Given the description of an element on the screen output the (x, y) to click on. 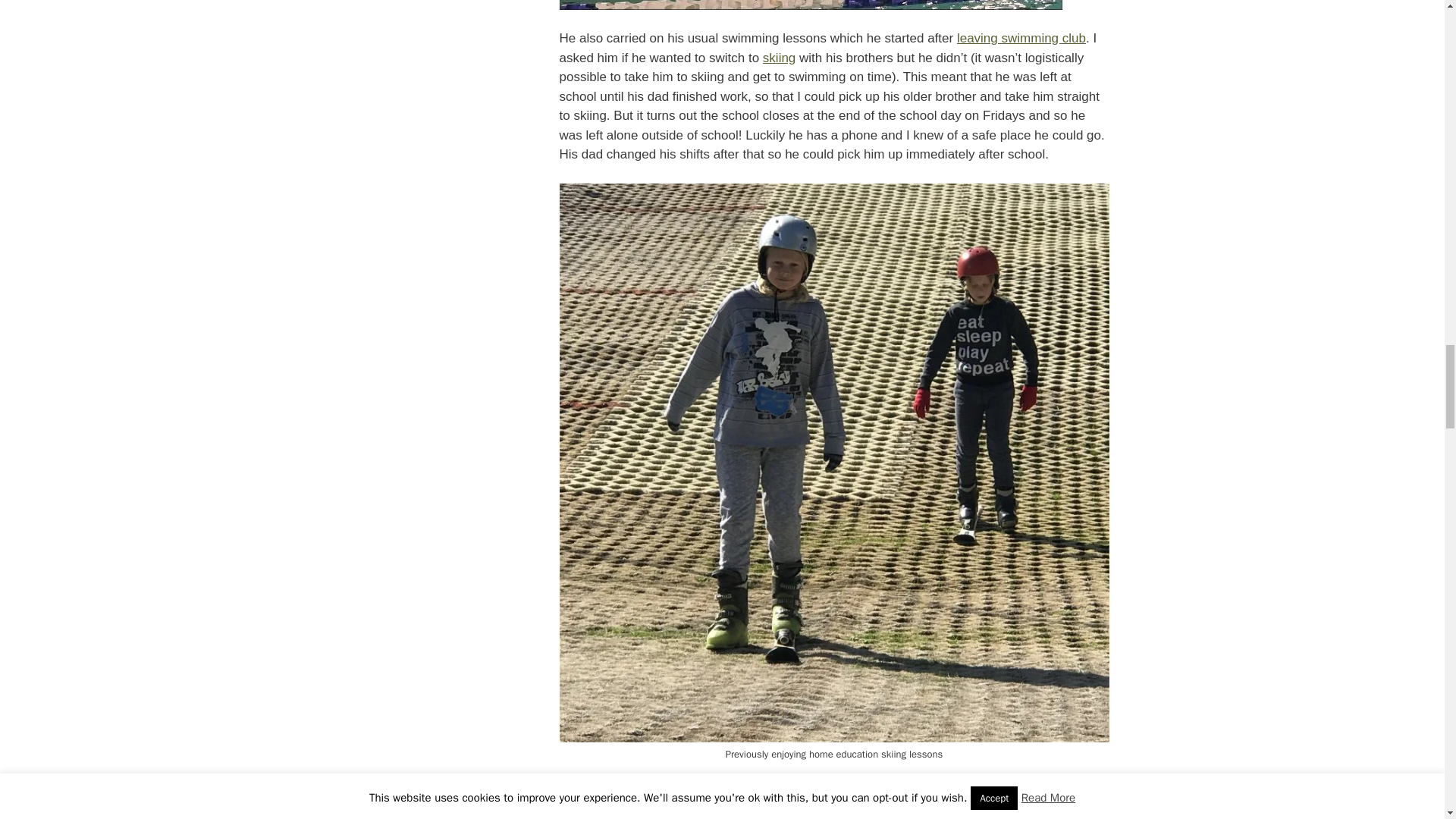
skiing (778, 57)
leaving swimming club (1021, 38)
